Given the description of an element on the screen output the (x, y) to click on. 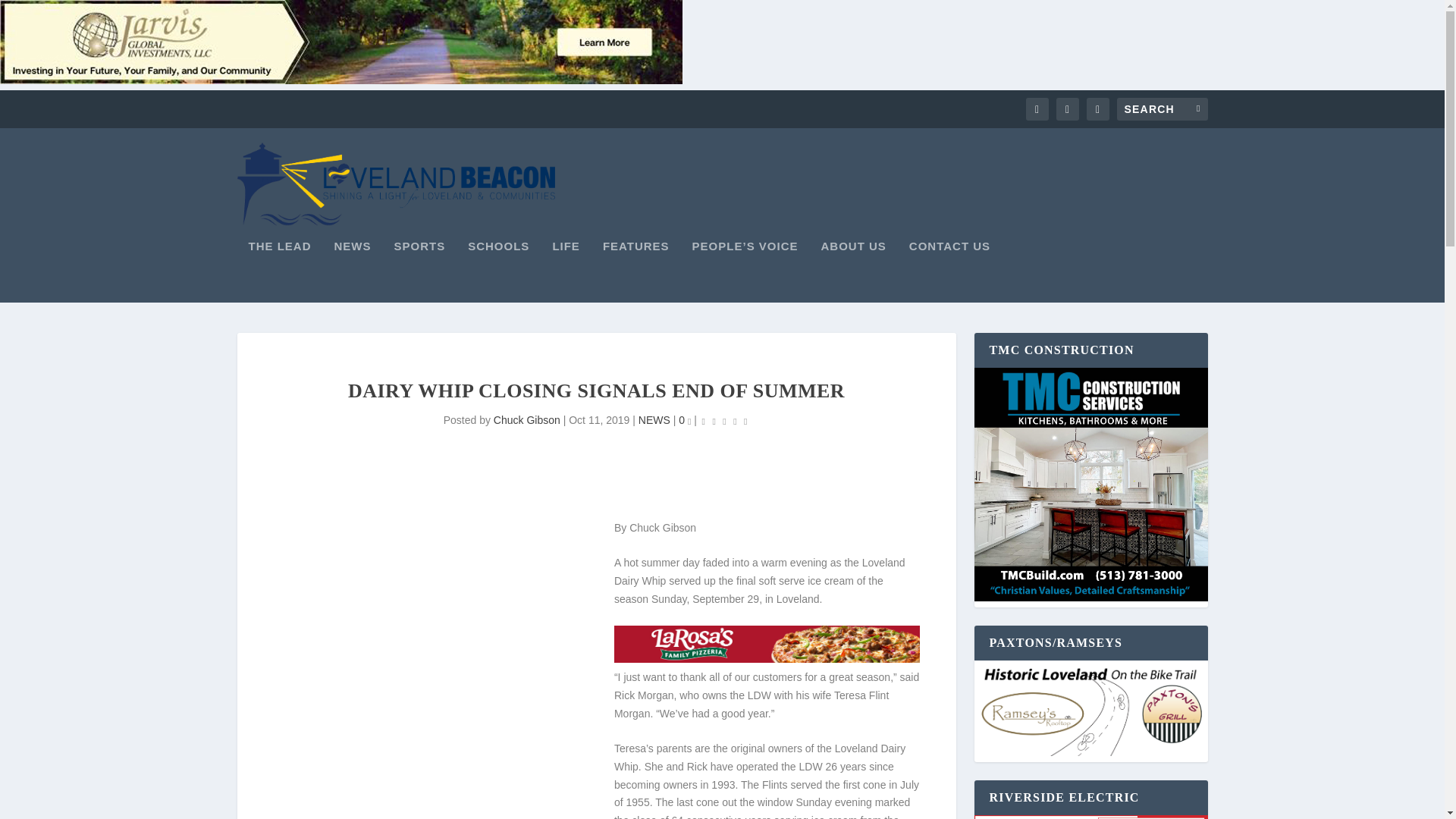
CONTACT US (949, 271)
0 (684, 419)
SCHOOLS (498, 271)
Posts by Chuck Gibson (526, 419)
Rating: 1.00 (724, 420)
Search for: (1161, 108)
NEWS (654, 419)
ABOUT US (853, 271)
THE LEAD (279, 271)
Chuck Gibson (526, 419)
FEATURES (635, 271)
